Given the description of an element on the screen output the (x, y) to click on. 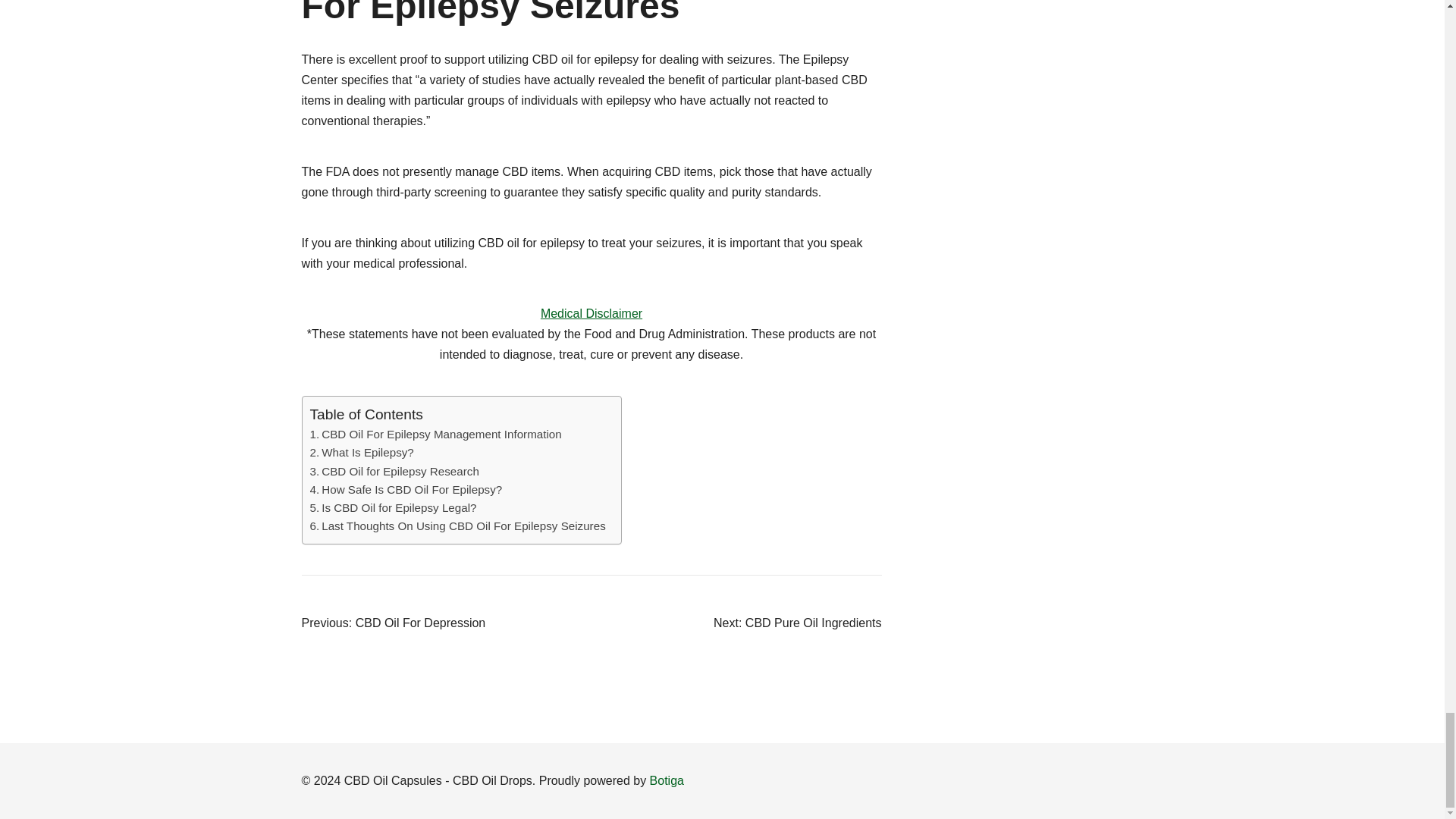
Last Thoughts On Using CBD Oil For Epilepsy Seizures (456, 525)
CBD Oil For Epilepsy Management Information (434, 434)
How Safe Is CBD Oil For Epilepsy? (405, 489)
CBD Oil for Epilepsy Research (393, 471)
What Is Epilepsy? (360, 452)
Is CBD Oil for Epilepsy Legal? (392, 507)
